Given the description of an element on the screen output the (x, y) to click on. 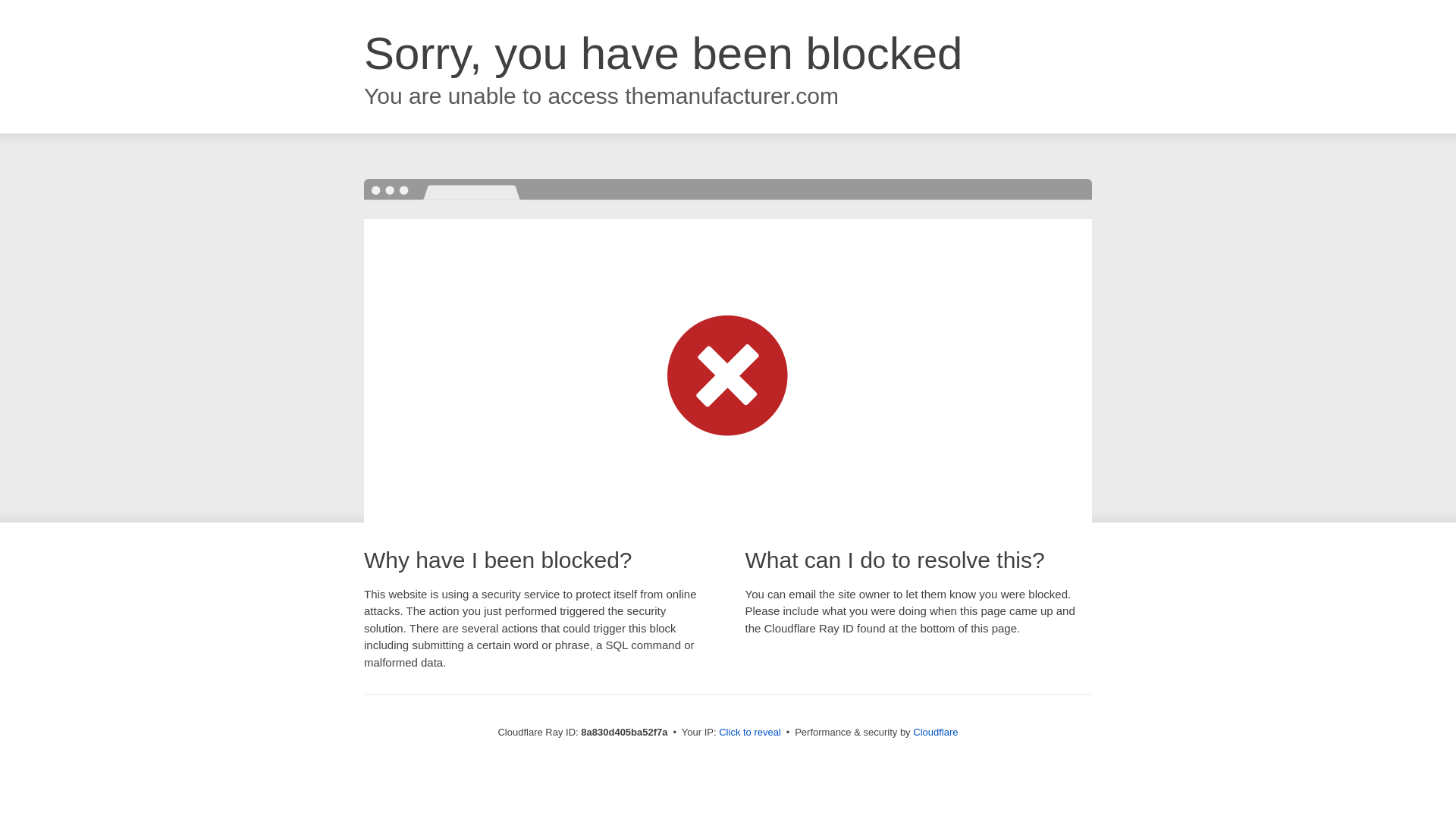
Click to reveal (749, 732)
Cloudflare (935, 731)
